Given the description of an element on the screen output the (x, y) to click on. 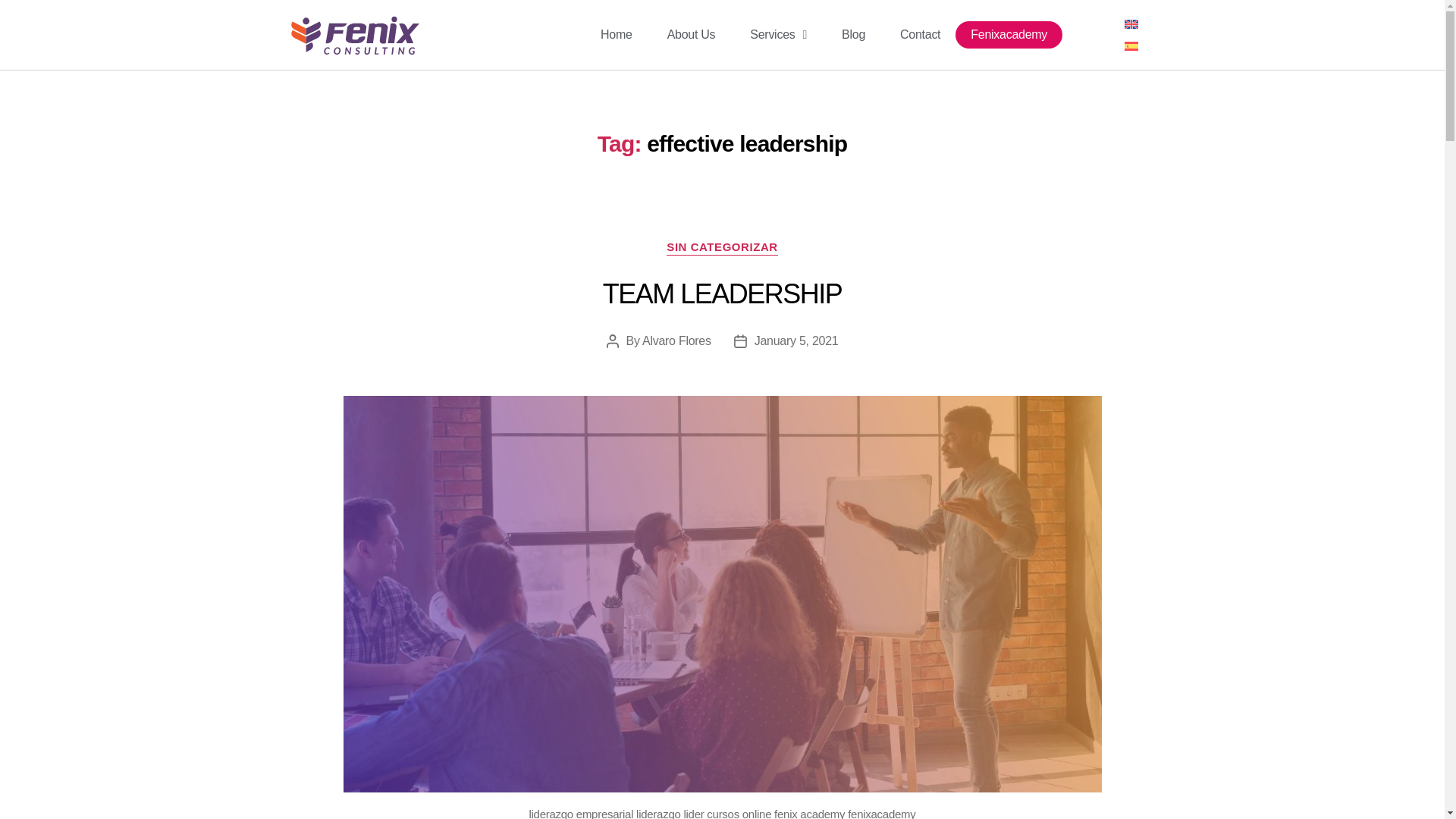
Home (616, 34)
SIN CATEGORIZAR (721, 247)
Fenixacademy (1008, 34)
Services (778, 34)
Contact (920, 34)
About Us (691, 34)
